Given the description of an element on the screen output the (x, y) to click on. 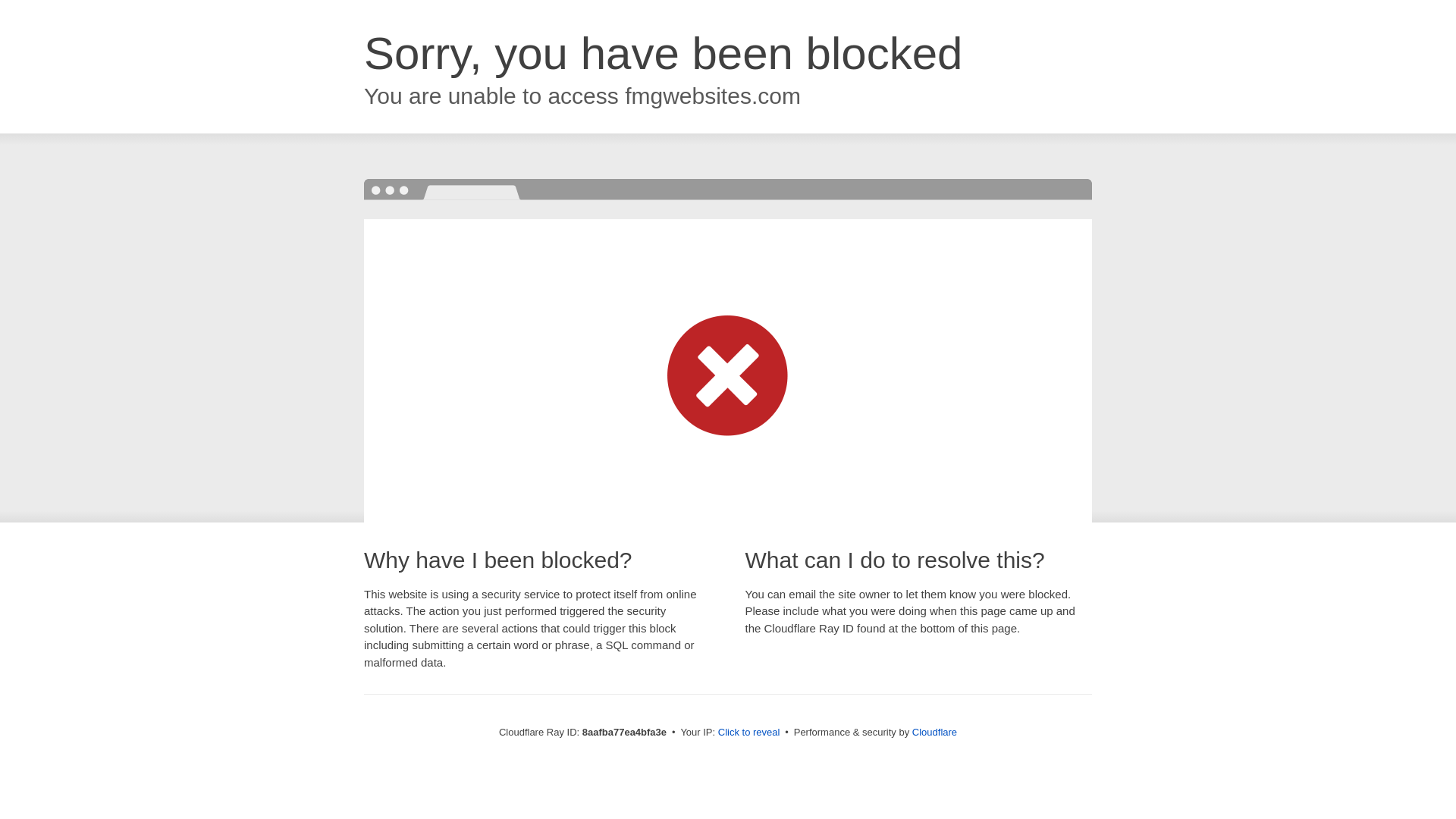
Click to reveal (748, 732)
Cloudflare (934, 731)
